Given the description of an element on the screen output the (x, y) to click on. 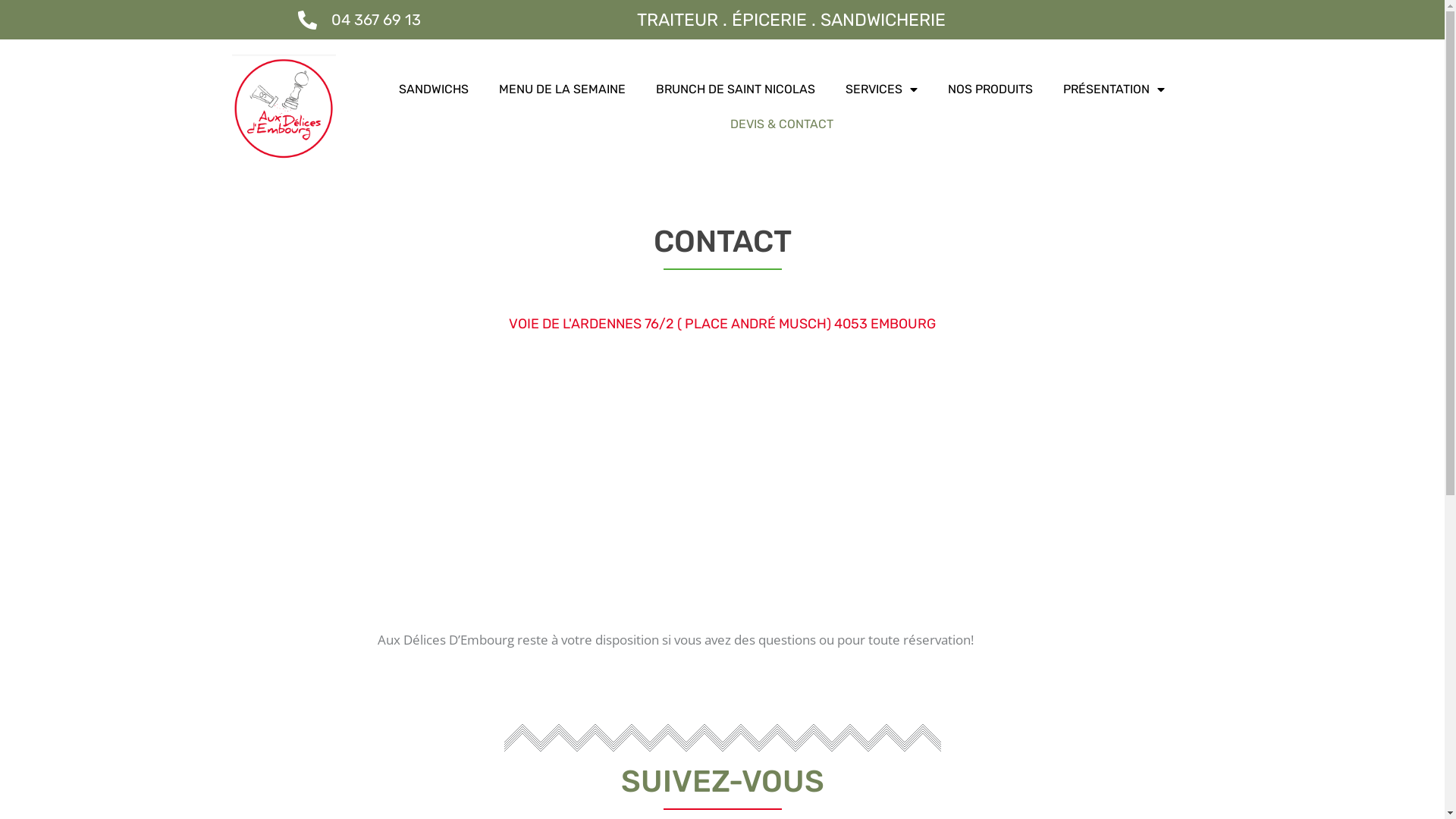
MENU DE LA SEMAINE Element type: text (561, 89)
SERVICES Element type: text (881, 89)
SANDWICHS Element type: text (433, 89)
BRUNCH DE SAINT NICOLAS Element type: text (735, 89)
DEVIS & CONTACT Element type: text (781, 123)
NOS PRODUITS Element type: text (990, 89)
aux delices dembourg Element type: hover (722, 470)
